Given the description of an element on the screen output the (x, y) to click on. 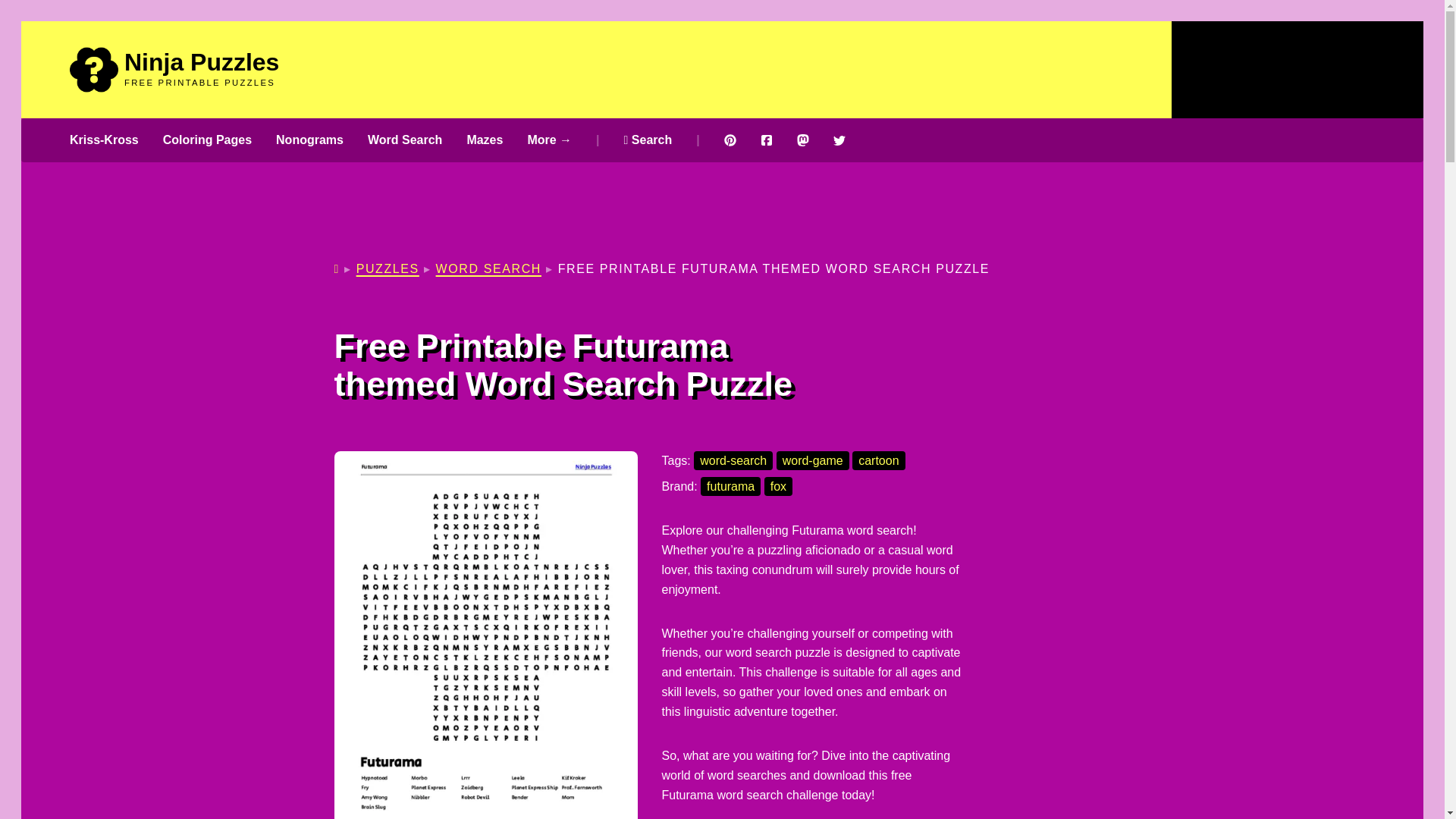
Follow on Twitter (838, 140)
Ninja Puzzles (201, 62)
Follow on Mastodon (802, 140)
futurama (730, 486)
PUZZLES (387, 268)
word-game (812, 460)
Follow on Facebook (766, 140)
Follow on Pinterest (729, 140)
word-search (733, 460)
fox (778, 486)
Kriss-Kross (103, 139)
WORD SEARCH (488, 268)
Nonograms (309, 139)
Word Search (405, 139)
Coloring Pages (207, 139)
